Given the description of an element on the screen output the (x, y) to click on. 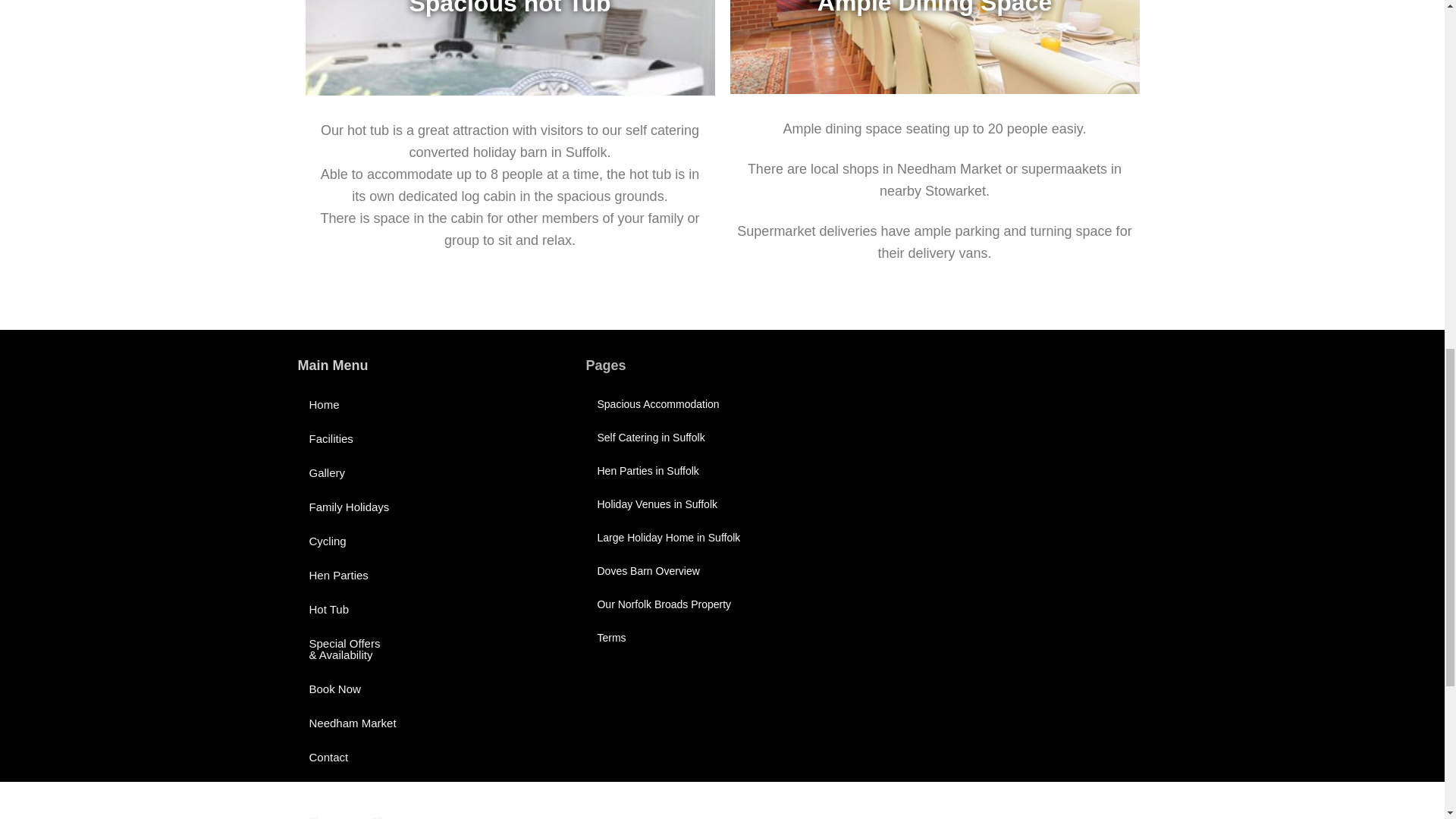
Large Holiday Home in Suffolk (722, 537)
Self Catering in Suffolk (722, 437)
Facilities (433, 438)
Gallery (433, 472)
Family Holidays (433, 506)
Our Norfolk Broads Property (722, 604)
Hot Tub (433, 609)
Home (433, 404)
Holiday Venues in Suffolk (722, 503)
Needham Market (433, 722)
Hen Parties in Suffolk (722, 470)
Terms (722, 637)
Doves Barn Overview (722, 571)
Spacious Accommodation (722, 403)
Sleeps up to 22 (722, 811)
